Given the description of an element on the screen output the (x, y) to click on. 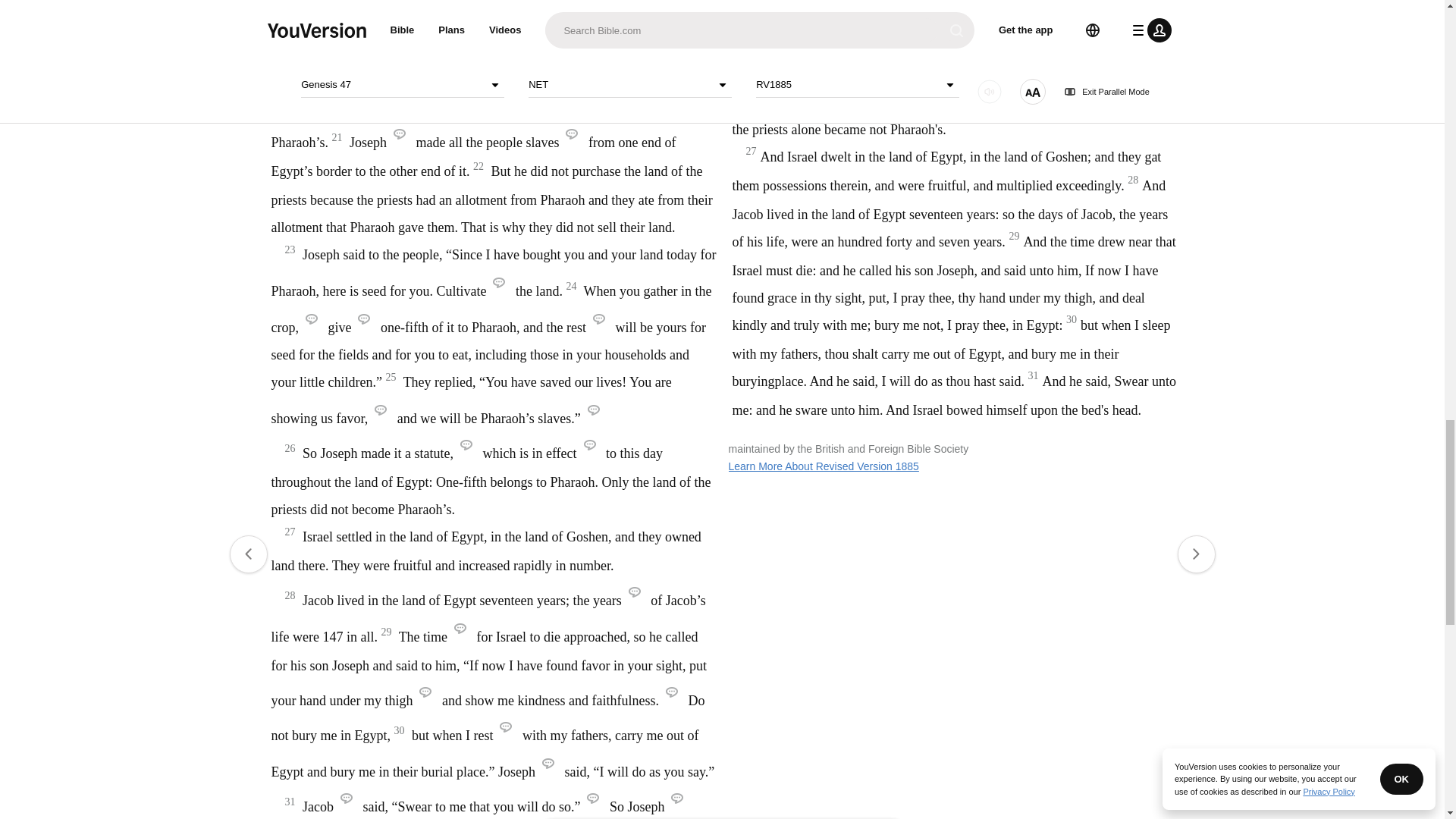
Learn More About Revised Version 1885 (823, 466)
